Given the description of an element on the screen output the (x, y) to click on. 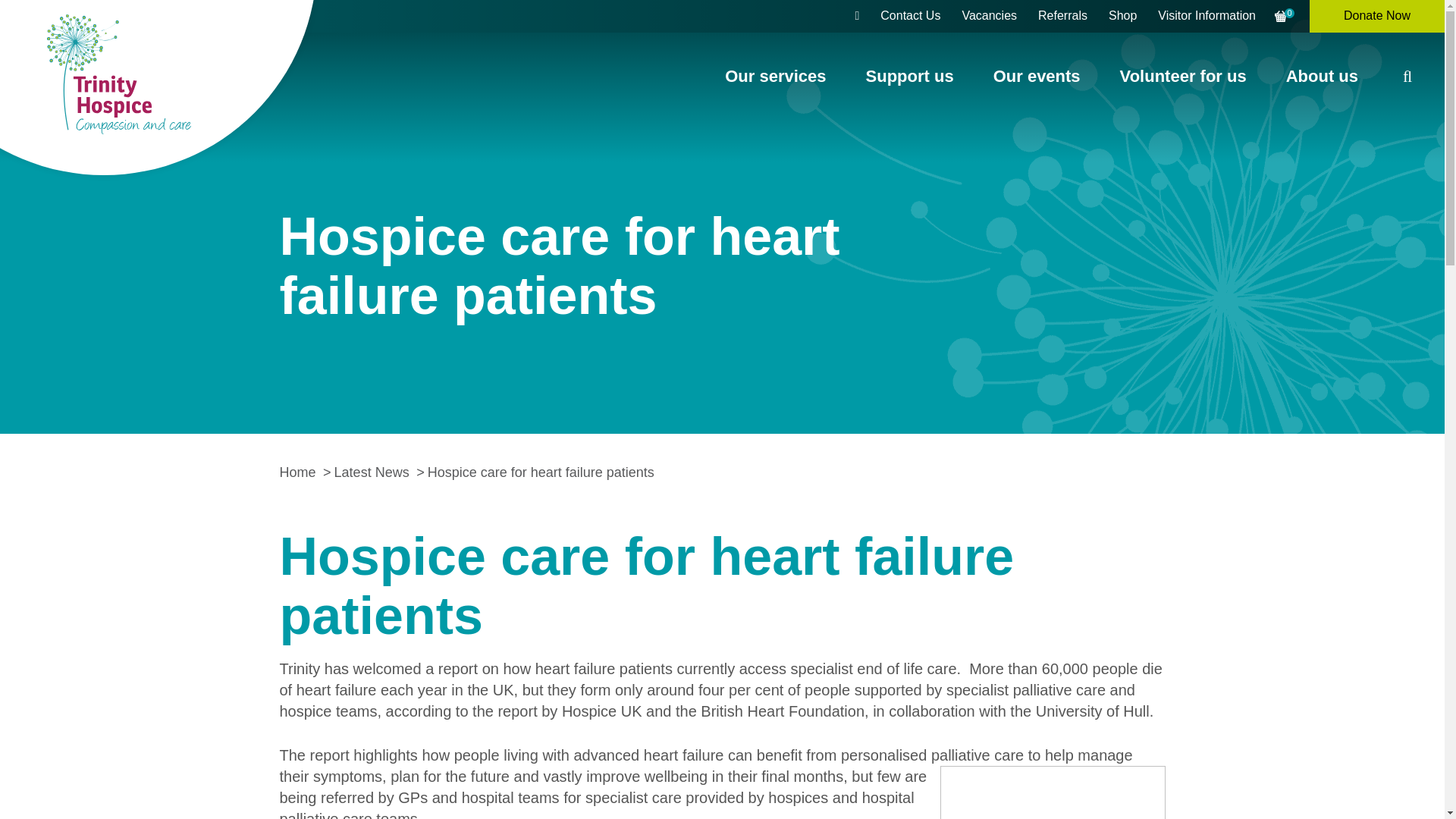
Referrals (1062, 16)
Vacancies (988, 16)
Contact Us (909, 16)
Shop (1122, 16)
Our services (775, 76)
Support us (909, 76)
Visitor Information (1206, 16)
